Given the description of an element on the screen output the (x, y) to click on. 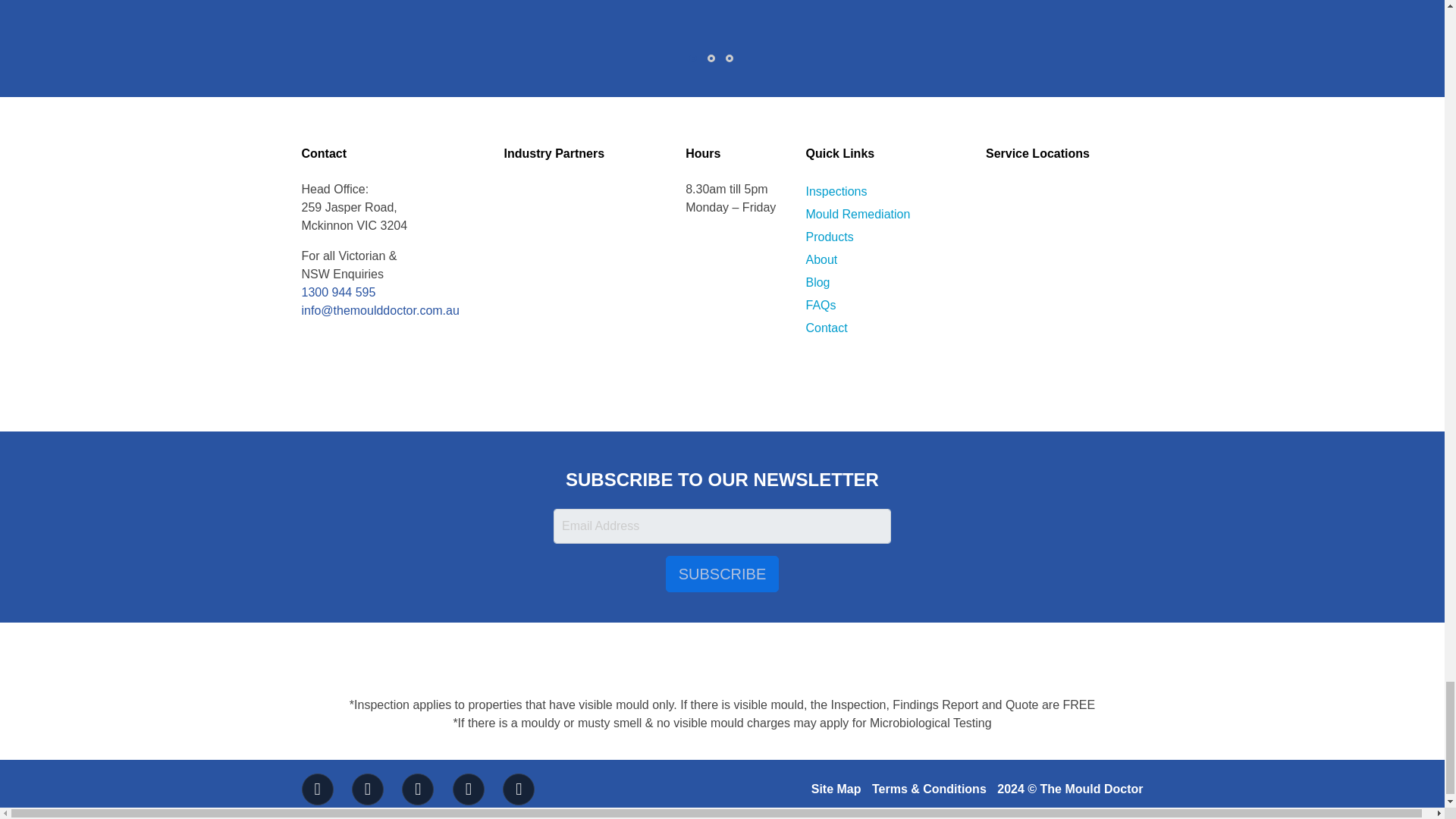
SUBSCRIBE (721, 574)
